Given the description of an element on the screen output the (x, y) to click on. 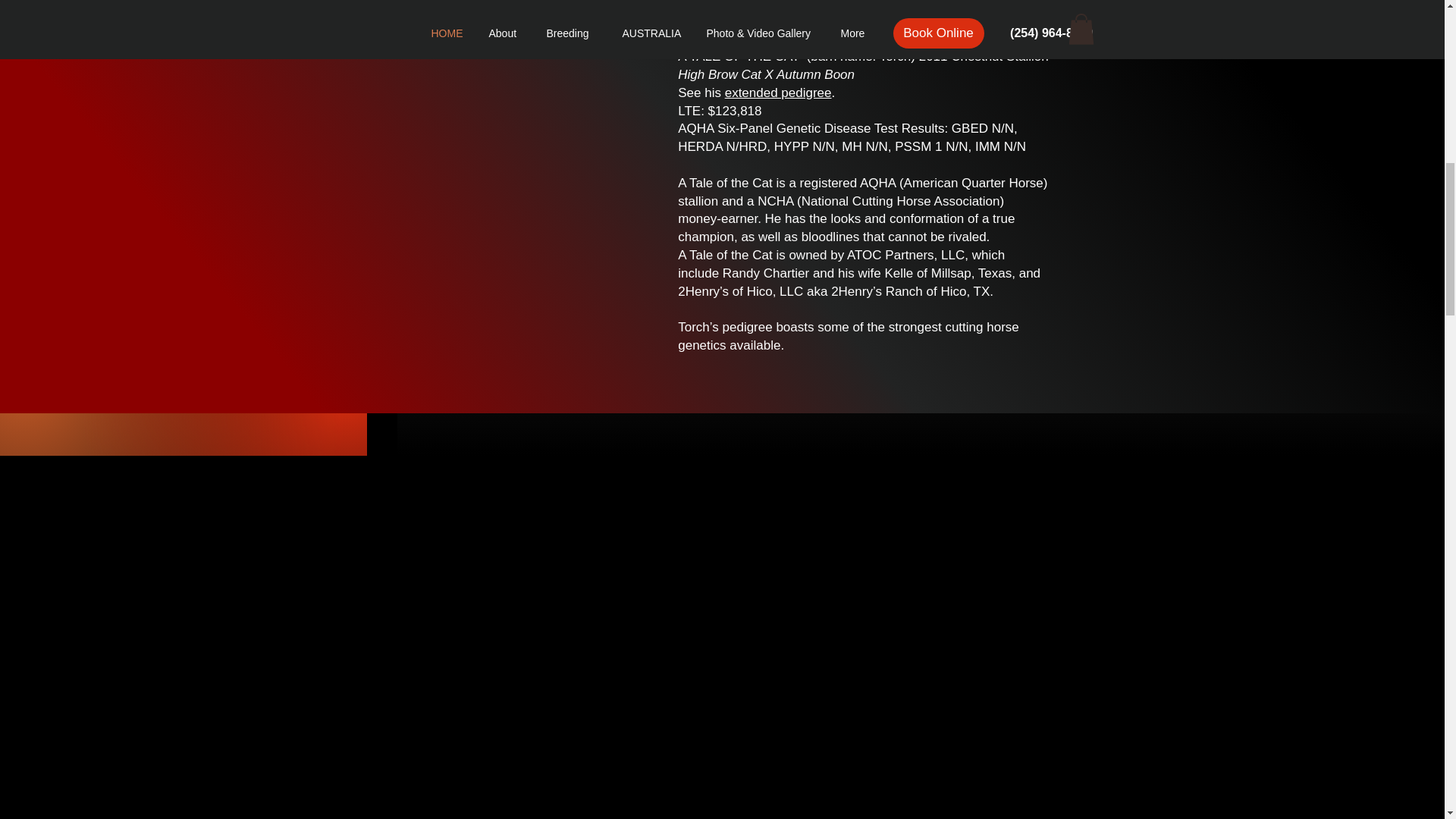
extended pedigree (778, 92)
